Given the description of an element on the screen output the (x, y) to click on. 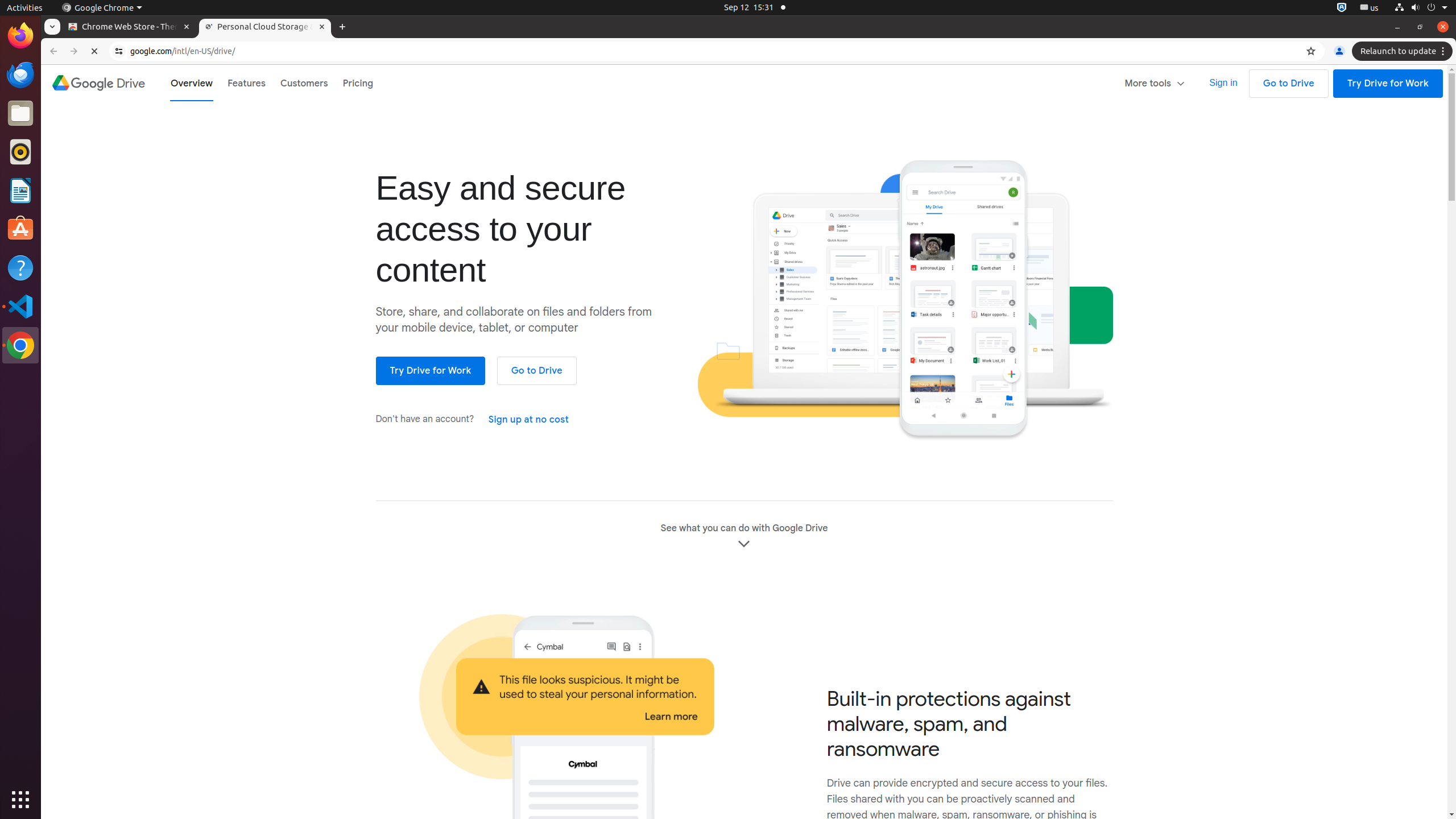
Relaunch to update Element type: push-button (1403, 50)
Help Element type: push-button (20, 267)
You Element type: push-button (1339, 50)
Go to Drive Element type: link (1288, 83)
Google Drive Element type: link (97, 82)
